Given the description of an element on the screen output the (x, y) to click on. 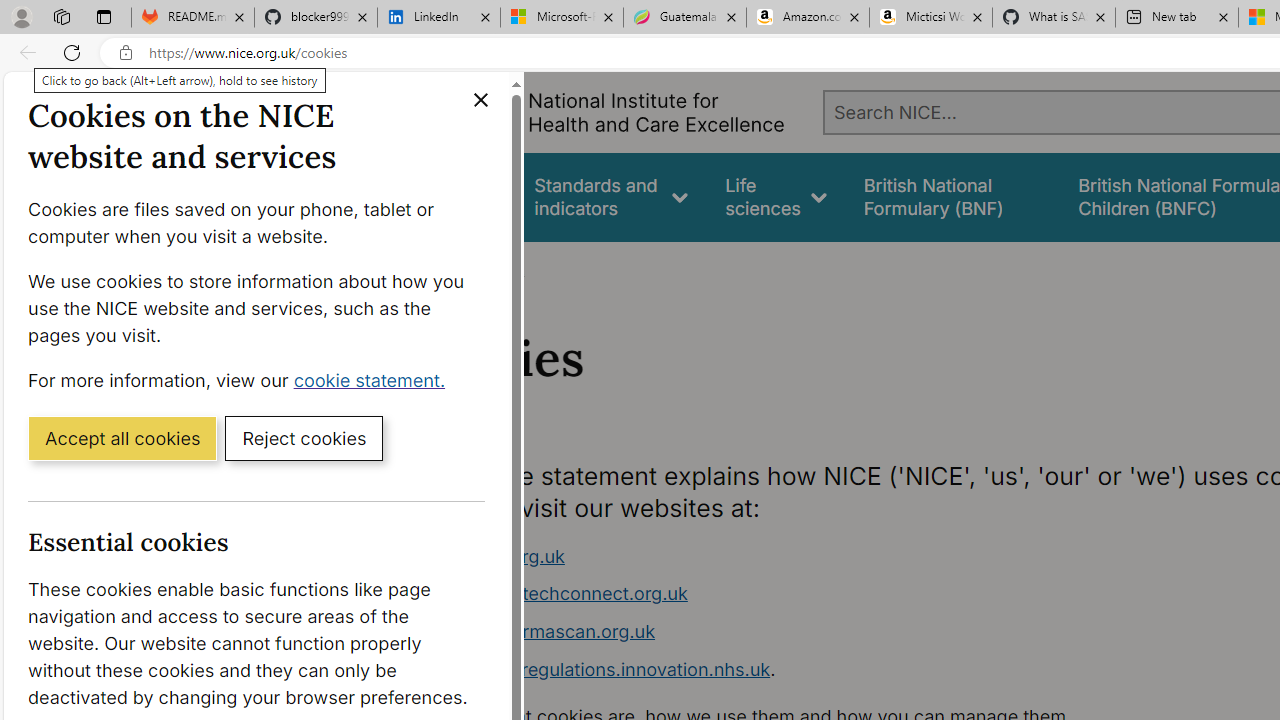
www.digitalregulations.innovation.nhs.uk (595, 668)
www.healthtechconnect.org.uk (554, 593)
Reject cookies (304, 437)
